Given the description of an element on the screen output the (x, y) to click on. 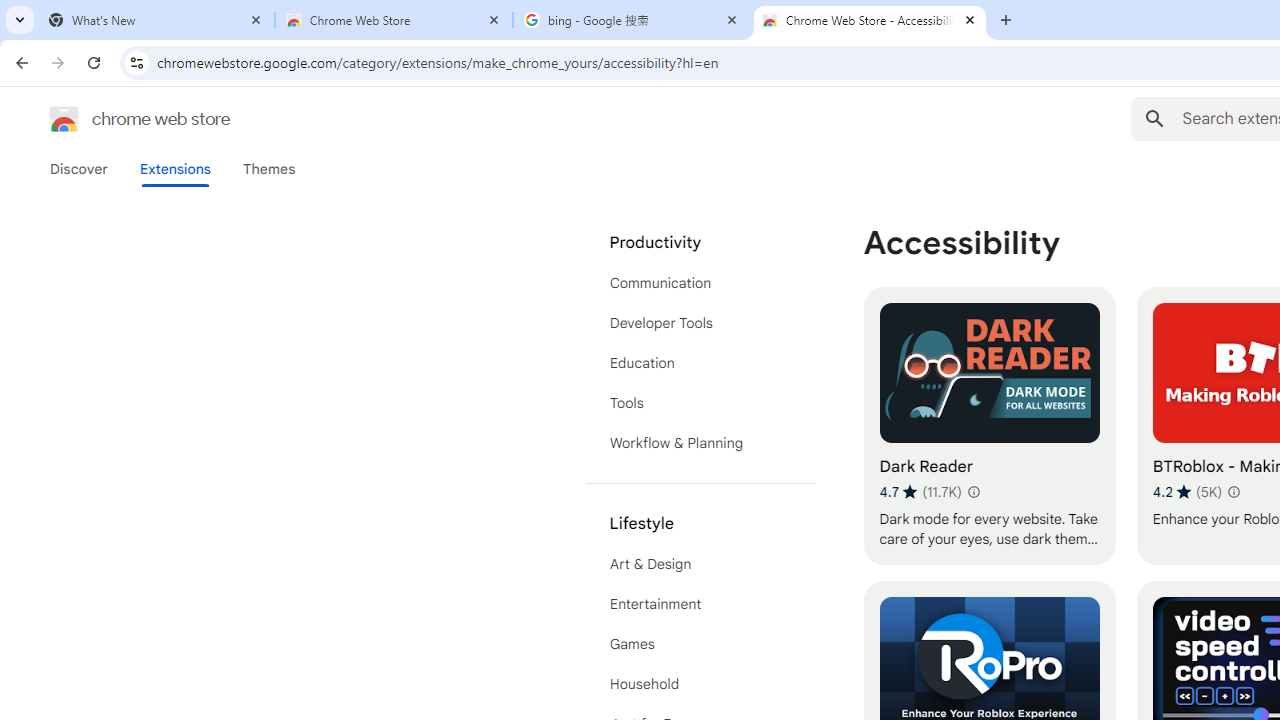
Tools (700, 403)
Games (700, 643)
Extensions (174, 169)
What's New (156, 20)
Dark Reader (989, 426)
Chrome Web Store logo (63, 118)
Entertainment (700, 603)
Household (700, 683)
Developer Tools (700, 322)
Education (700, 362)
